Given the description of an element on the screen output the (x, y) to click on. 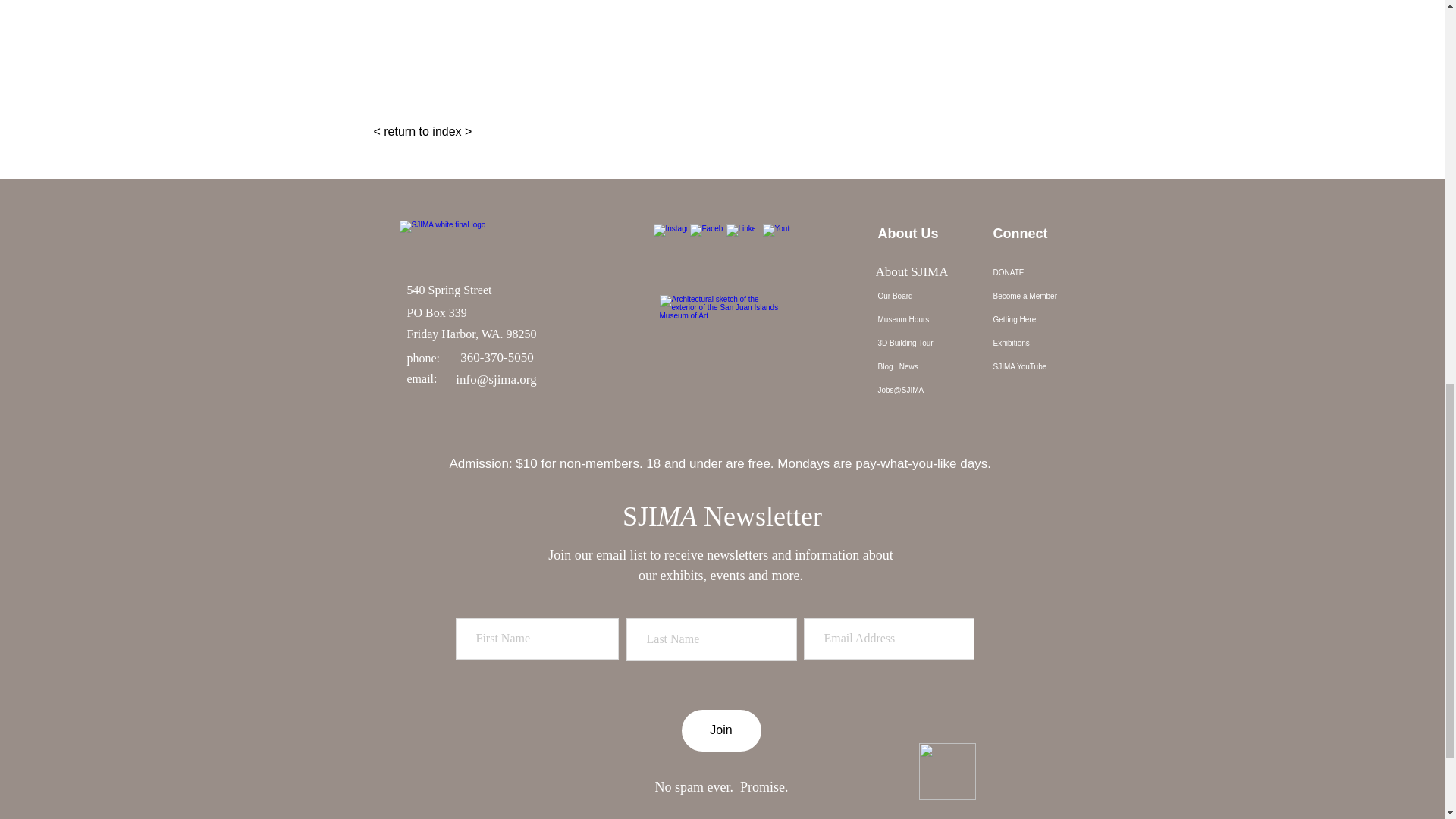
Museum Hours (926, 319)
About Us (926, 272)
DONATE (1042, 272)
Become a Member (1042, 295)
360-370-5050 (497, 357)
Getting Here (1042, 319)
3D Building Tour (926, 342)
Our Board (926, 295)
About SJIMA (911, 272)
Exhibitions (1042, 342)
